Given the description of an element on the screen output the (x, y) to click on. 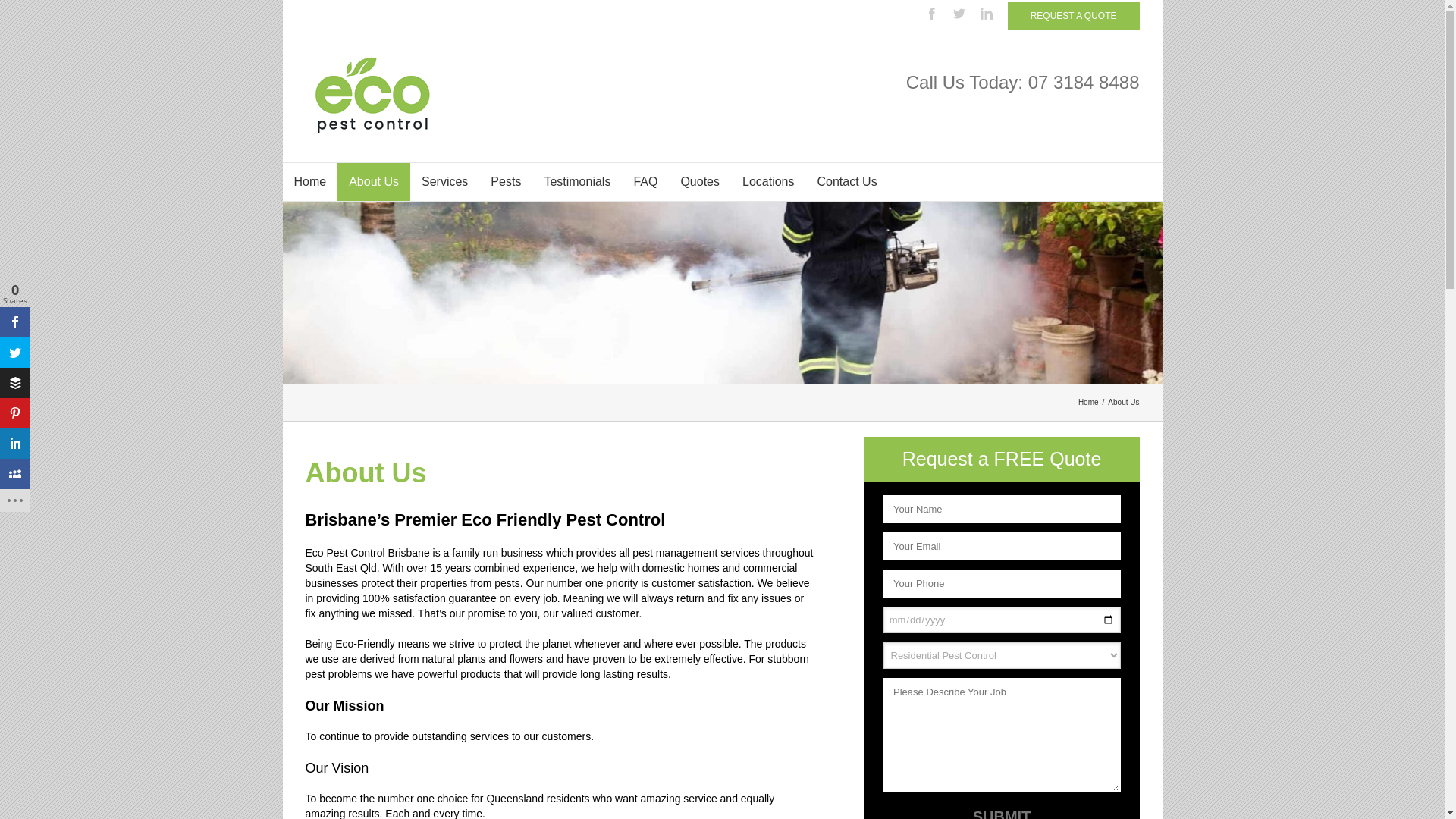
Twitter Element type: hover (959, 13)
Facebook Element type: hover (931, 13)
Home Element type: text (309, 181)
Linkedin Element type: hover (986, 13)
Locations Element type: text (768, 181)
Contact Us Element type: text (847, 181)
Testimonials Element type: text (576, 181)
About Us Element type: text (373, 181)
FAQ Element type: text (644, 181)
Services Element type: text (444, 181)
Pests Element type: text (505, 181)
Quotes Element type: text (699, 181)
Home Element type: text (1090, 402)
REQUEST A QUOTE Element type: text (1073, 15)
